Given the description of an element on the screen output the (x, y) to click on. 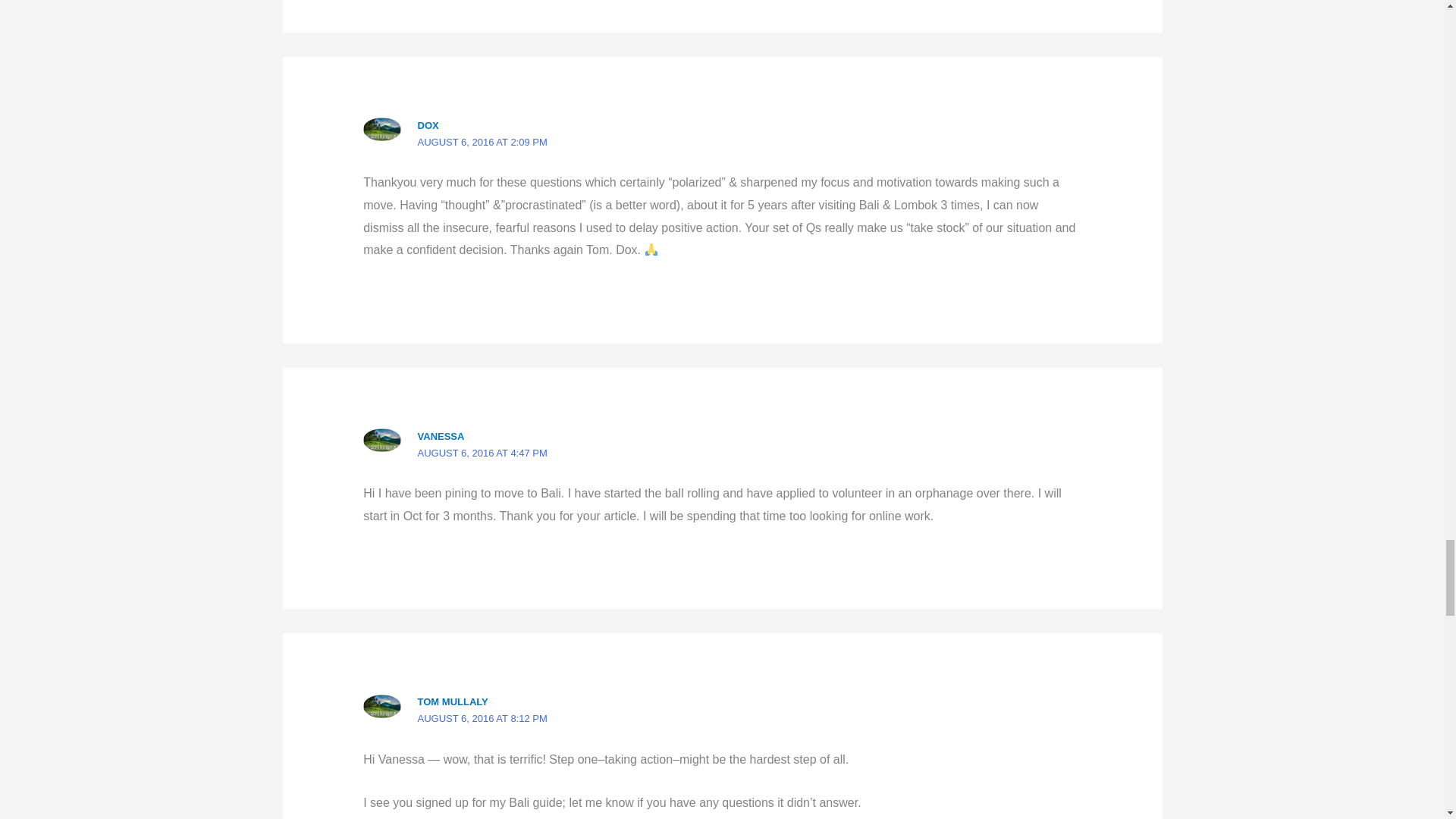
AUGUST 6, 2016 AT 4:47 PM (482, 452)
AUGUST 6, 2016 AT 2:09 PM (482, 142)
AUGUST 6, 2016 AT 8:12 PM (482, 717)
